Given the description of an element on the screen output the (x, y) to click on. 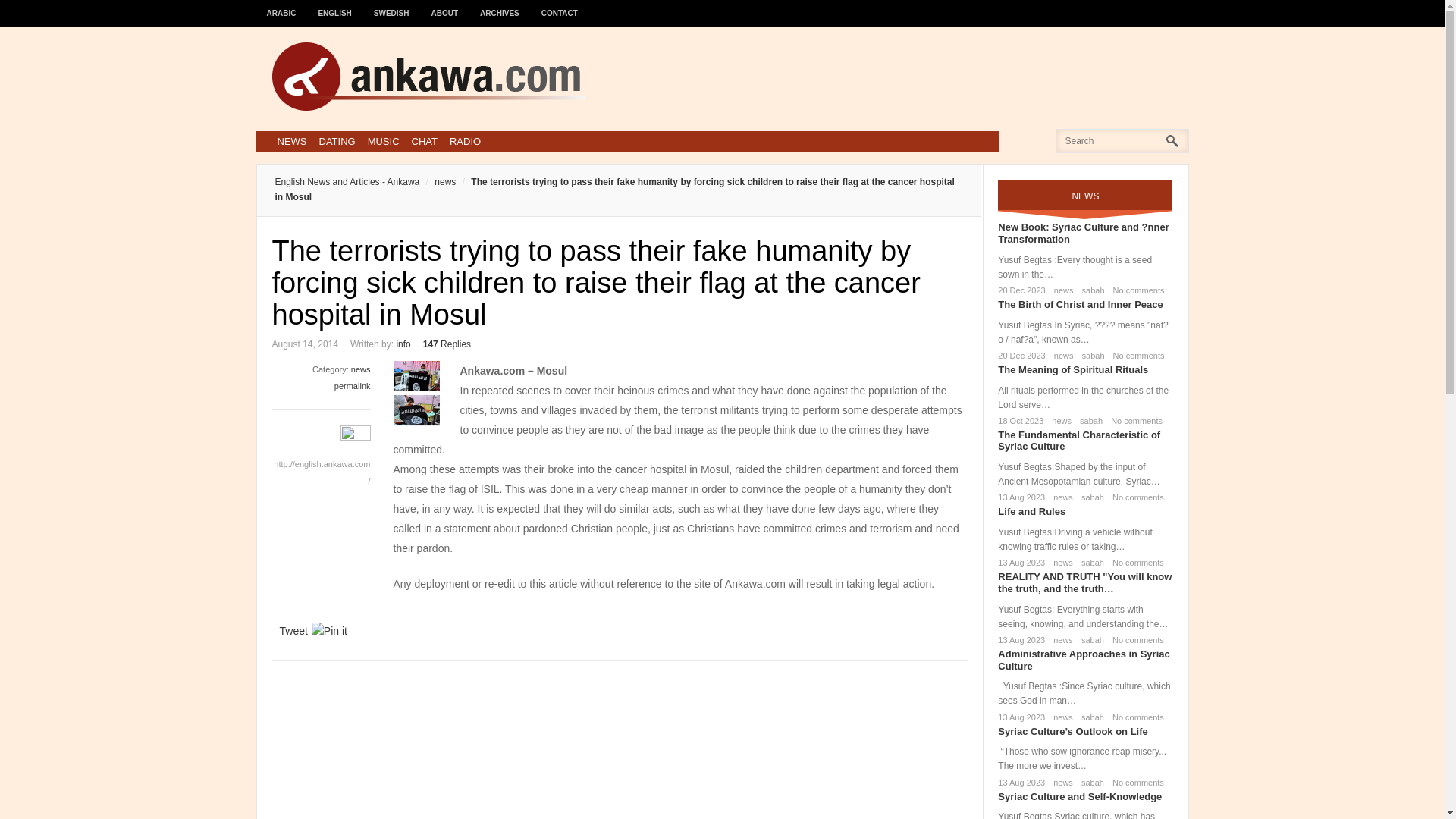
No comments (1134, 497)
NEWS (291, 141)
Advertisement (891, 76)
View all posts by info (403, 344)
ABOUT (445, 5)
No comments (1133, 420)
news (437, 181)
No comments (1135, 289)
sabah (1088, 420)
news (360, 368)
RADIO (465, 141)
news (1061, 289)
New Book: Syriac Culture and ?nner Transformation (1083, 232)
sabah (1090, 289)
